Given the description of an element on the screen output the (x, y) to click on. 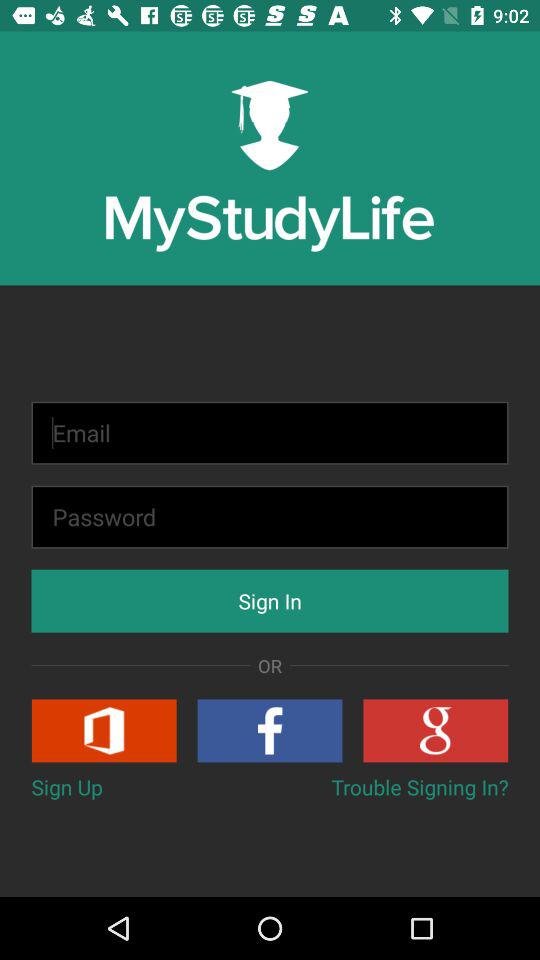
tap button to the right of the sign up item (419, 786)
